Given the description of an element on the screen output the (x, y) to click on. 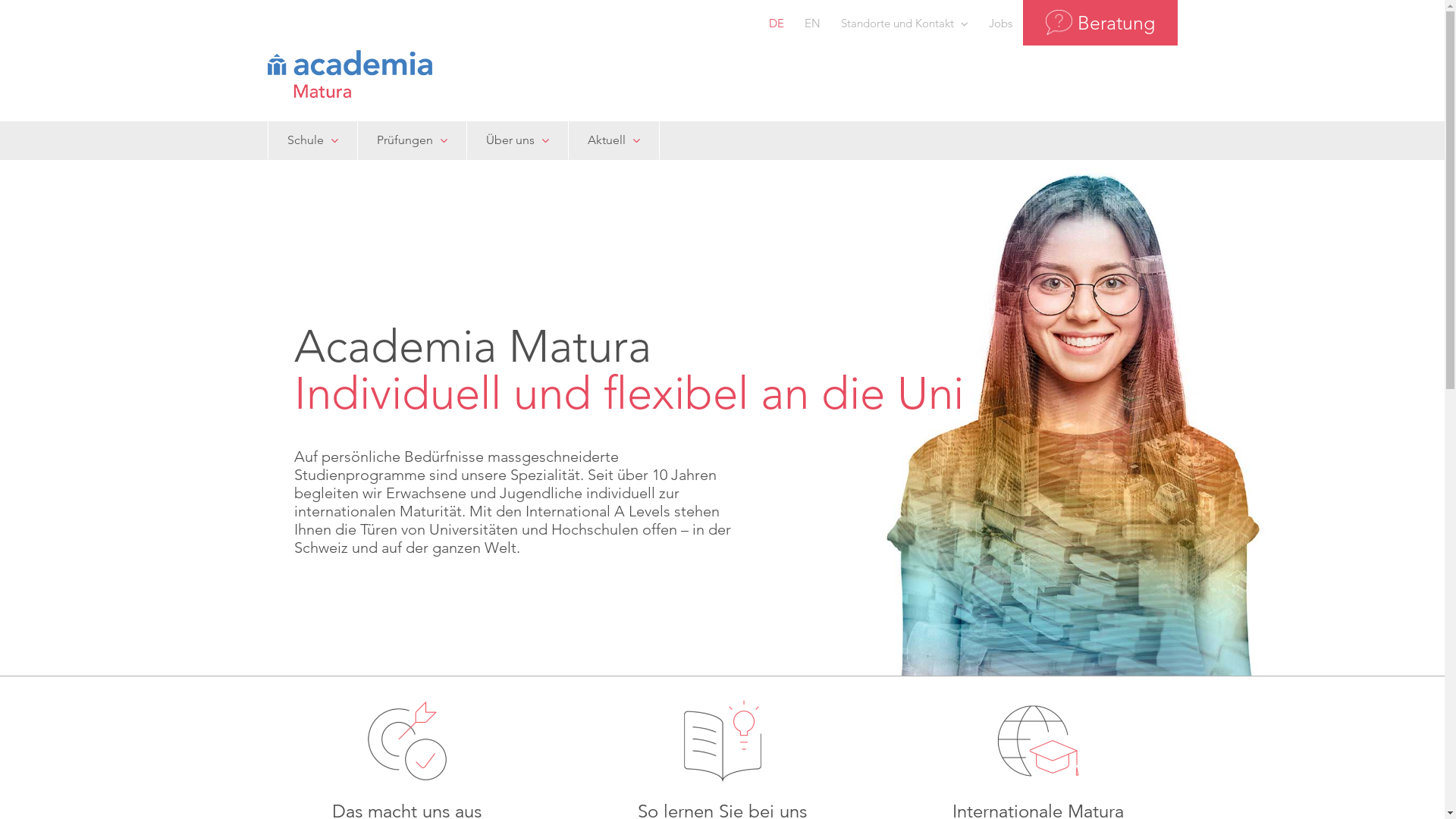
Aktuell Element type: text (612, 140)
internationale-matura Element type: hover (1037, 740)
EN Element type: text (812, 22)
Standorte und Kontakt Element type: text (904, 22)
das-macht-uns-aus Element type: hover (406, 740)
Beratung Element type: text (1099, 22)
Schule Element type: text (311, 140)
Jobs Element type: text (999, 22)
DE Element type: text (775, 22)
so-lernen-sie-bei-uns Element type: hover (722, 740)
